Given the description of an element on the screen output the (x, y) to click on. 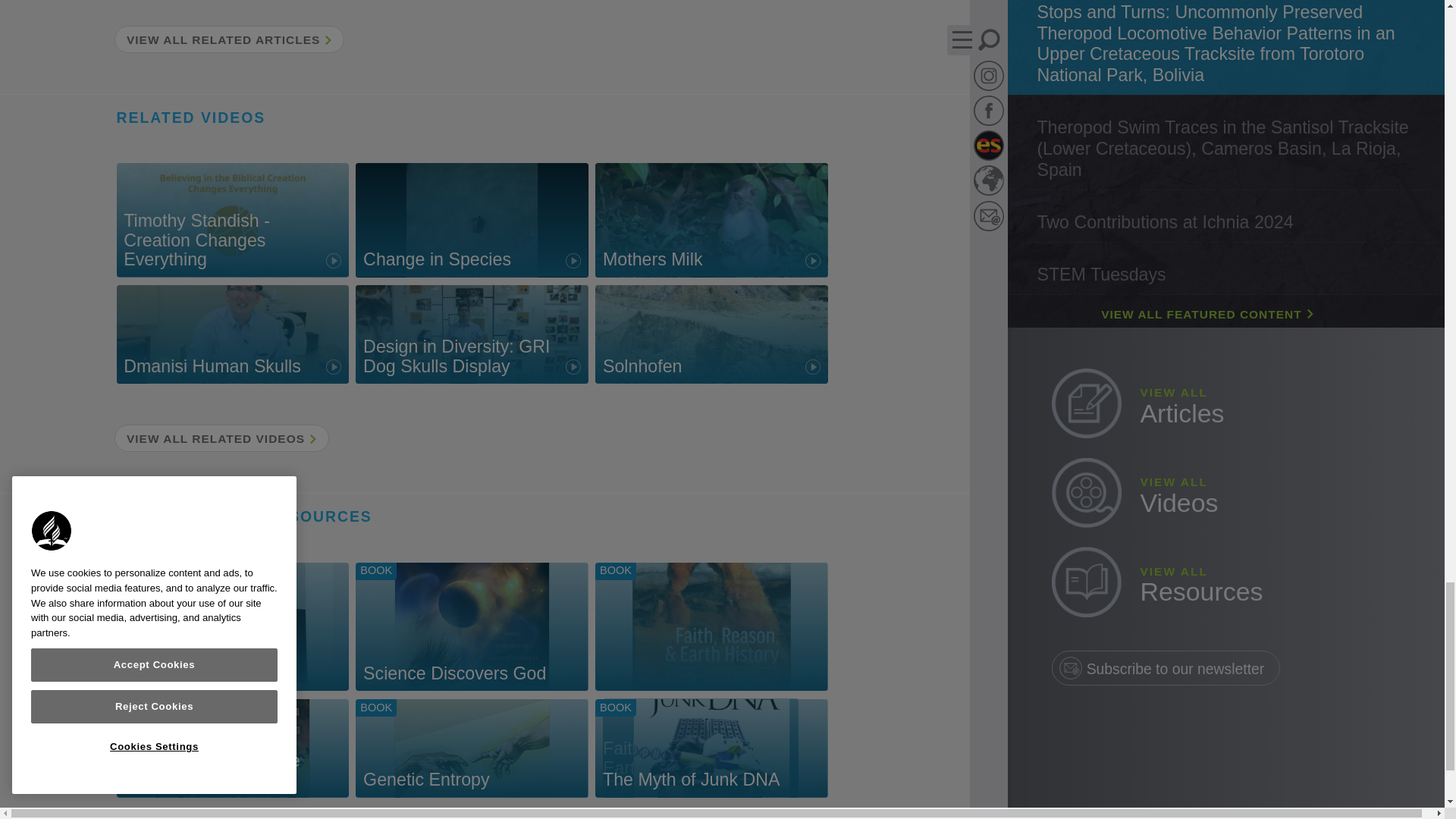
Dmanisi Human Skulls (711, 748)
Design in Diversity: GRI Dog Skulls Display (232, 334)
BOOK (232, 626)
VIEW ALL RELATED ARTICLES (471, 334)
Change in Species (711, 626)
Mothers Milk (228, 39)
Timothy Standish - Creation Changes Everything (471, 219)
VIEW ALL RELATED VIDEOS (232, 748)
Solnhofen (711, 219)
Faith, Reason, and Earth History - 3rd Edition (471, 748)
